Given the description of an element on the screen output the (x, y) to click on. 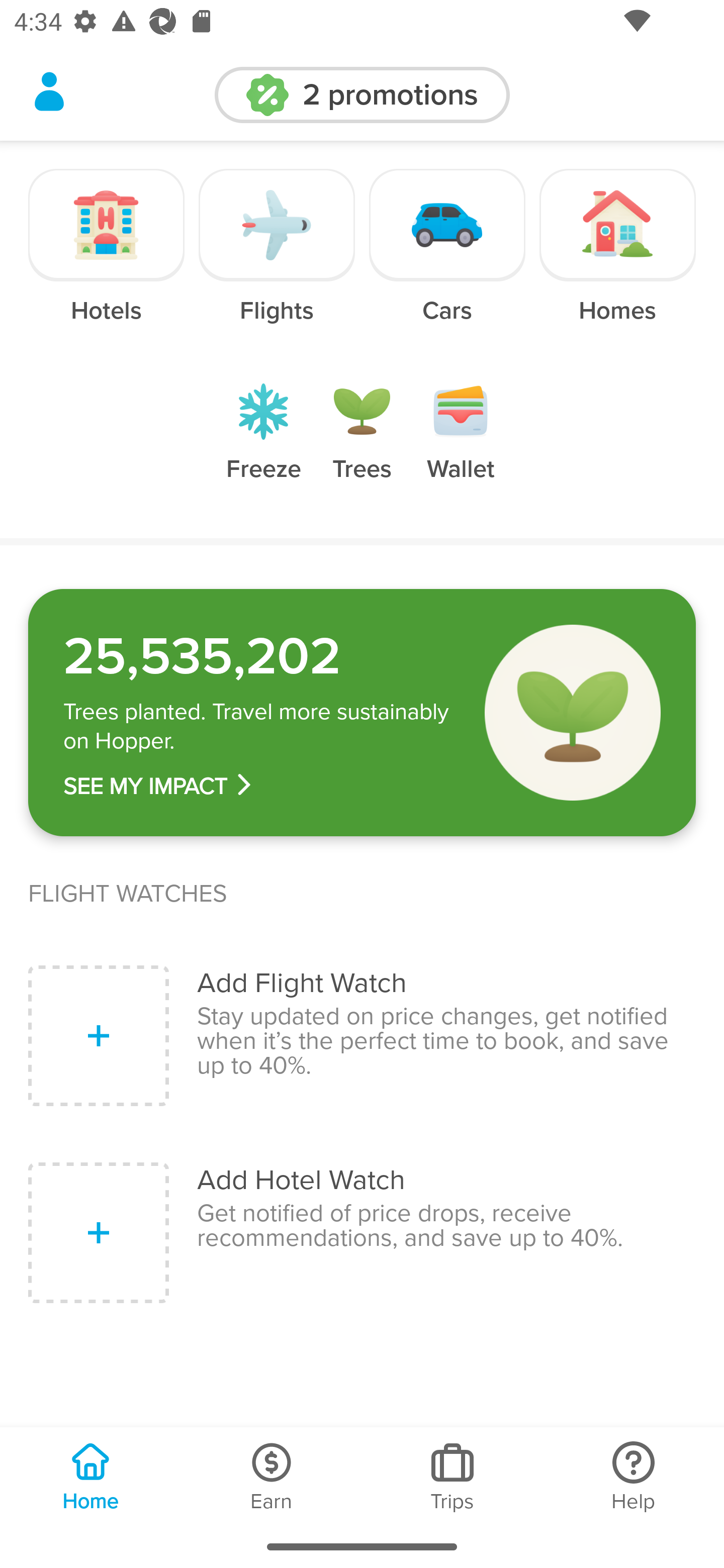
‍2 promotions (362, 95)
Hotels (106, 260)
Flights (276, 260)
Cars (447, 260)
Homes (617, 260)
Freeze (263, 446)
Trees (361, 446)
Wallet (460, 446)
‍25,535,202 (259, 656)
‍Trees planted. Travel more sustainably on Hopper. (259, 726)
‍SEE MY IMPACT ​ (259, 786)
Earn (271, 1475)
Trips (452, 1475)
Help (633, 1475)
